Given the description of an element on the screen output the (x, y) to click on. 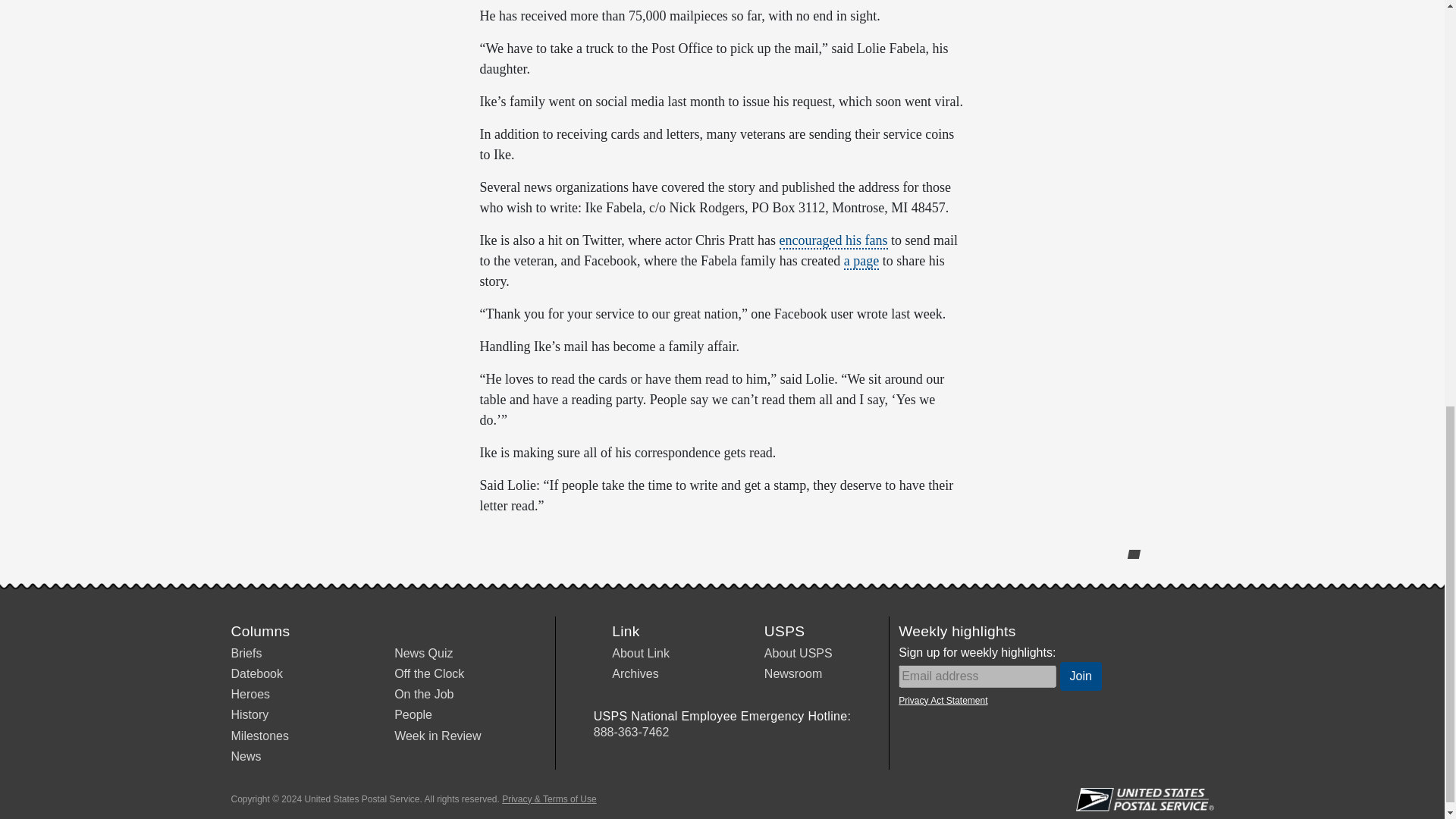
Milestones (259, 735)
Join (1080, 676)
Datebook (256, 673)
History (248, 714)
a page (861, 261)
News (245, 756)
About USPS (798, 653)
On the Job (423, 694)
encouraged his fans (833, 240)
Archives (634, 673)
